Given the description of an element on the screen output the (x, y) to click on. 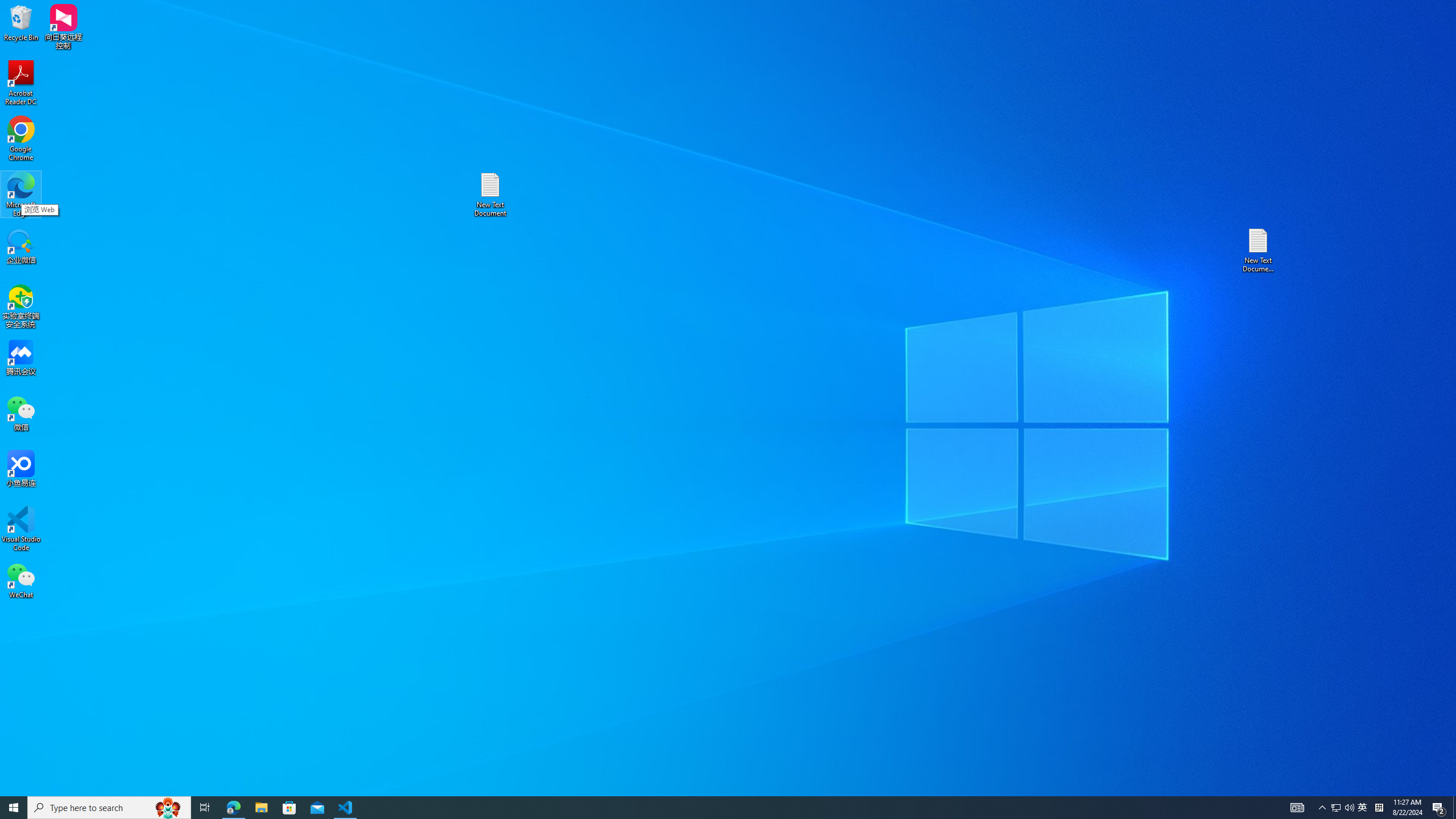
Start (13, 807)
WeChat (21, 580)
Microsoft Store (289, 807)
Type here to search (108, 807)
Search highlights icon opens search home window (167, 807)
Visual Studio Code (21, 528)
Acrobat Reader DC (21, 82)
Microsoft Edge - 1 running window (233, 807)
Running applications (707, 807)
Visual Studio Code - 1 running window (345, 807)
